Given the description of an element on the screen output the (x, y) to click on. 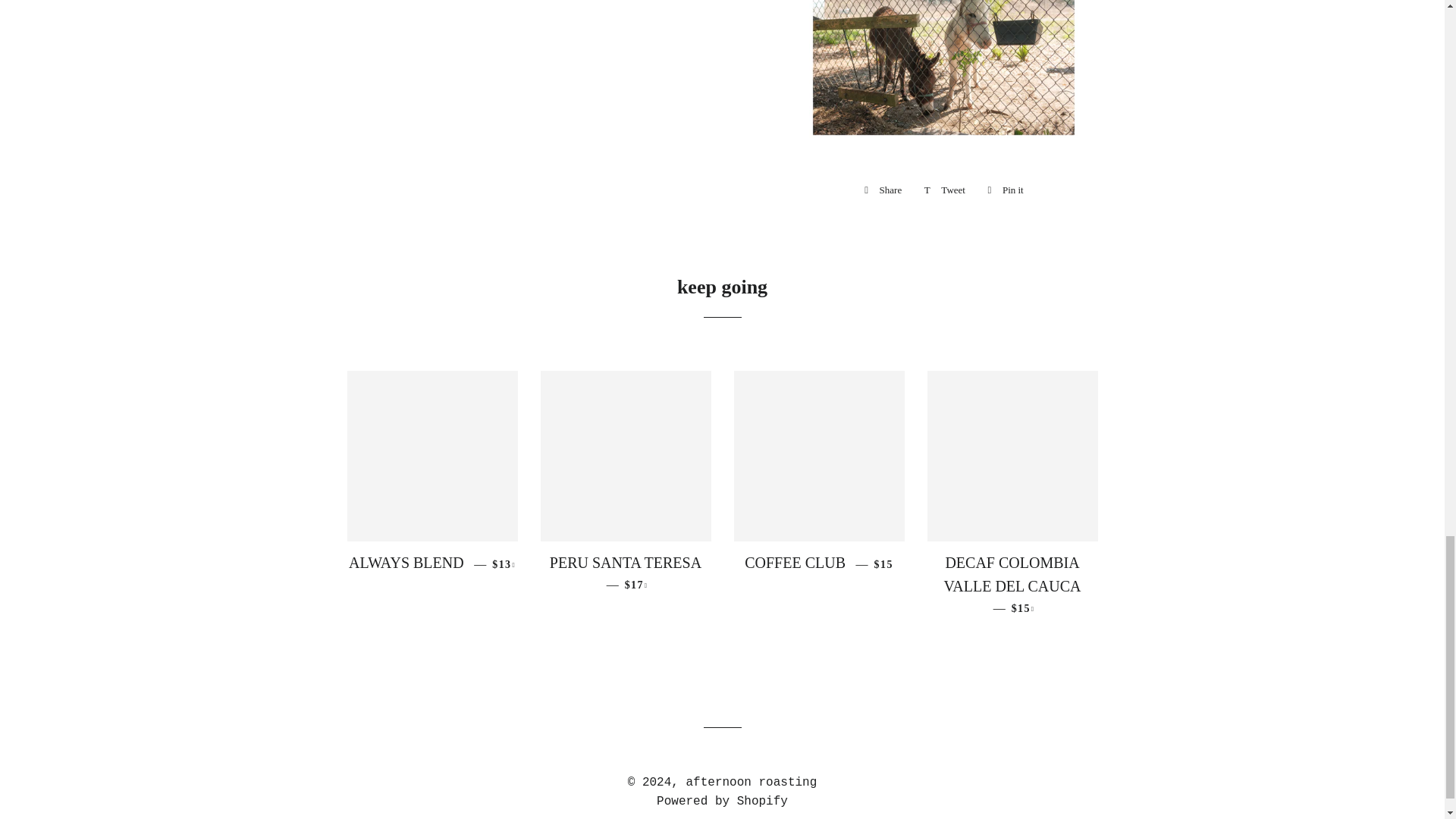
Powered by Shopify (721, 801)
Pin on Pinterest (1004, 190)
afternoon roasting (1004, 190)
Share on Facebook (944, 190)
Tweet on Twitter (882, 190)
